Given the description of an element on the screen output the (x, y) to click on. 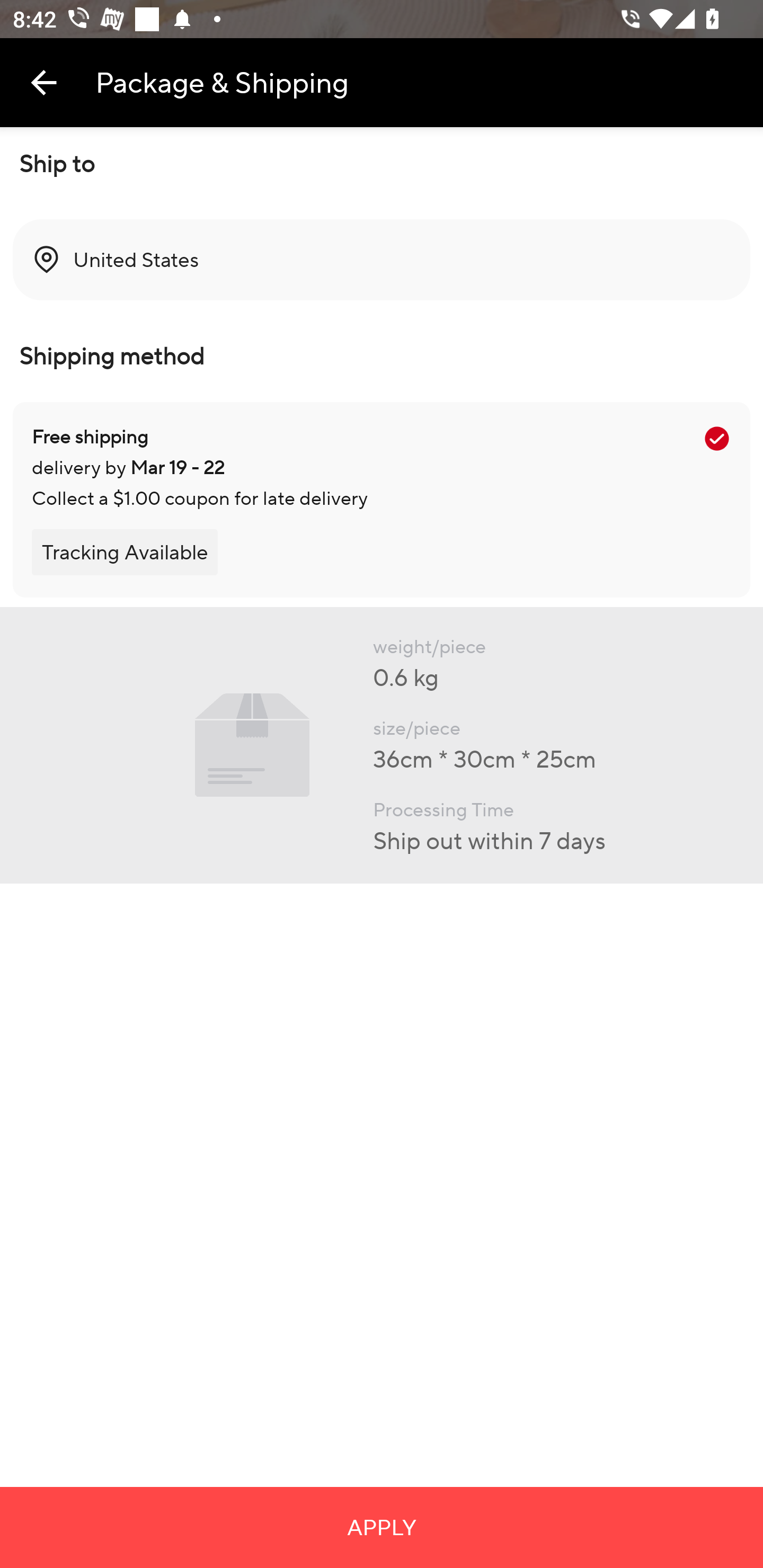
 United States (381, 260)
APPLY (381, 1527)
